Given the description of an element on the screen output the (x, y) to click on. 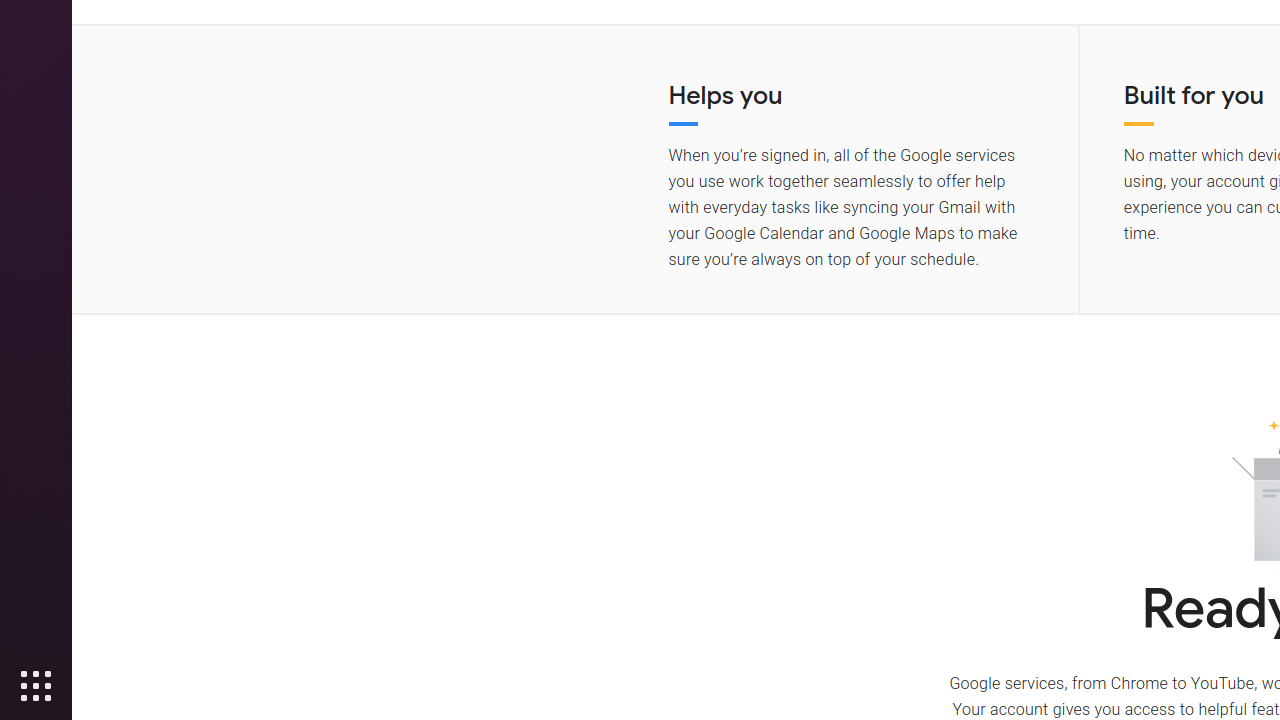
Show Applications Element type: toggle-button (36, 686)
